Given the description of an element on the screen output the (x, y) to click on. 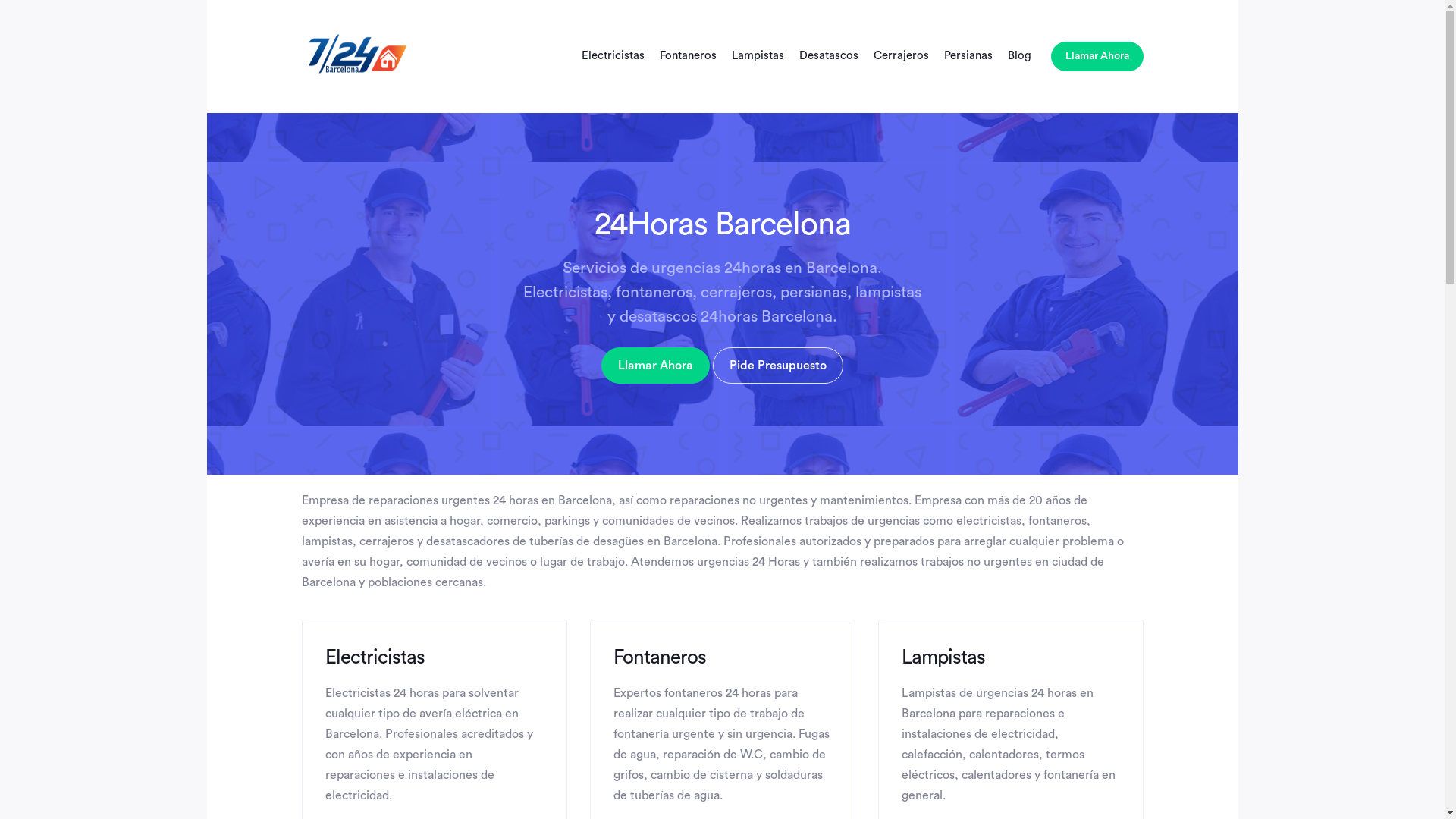
Electricistas Element type: text (612, 56)
Fontaneros Element type: text (688, 56)
Llamar Ahora Element type: text (1097, 56)
Lampistas Element type: text (756, 56)
Desatascos Element type: text (828, 56)
Persianas Element type: text (967, 56)
Cerrajeros Element type: text (901, 56)
Blog Element type: text (1018, 56)
Llamar Ahora Element type: text (655, 365)
Pide Presupuesto Element type: text (777, 365)
